Given the description of an element on the screen output the (x, y) to click on. 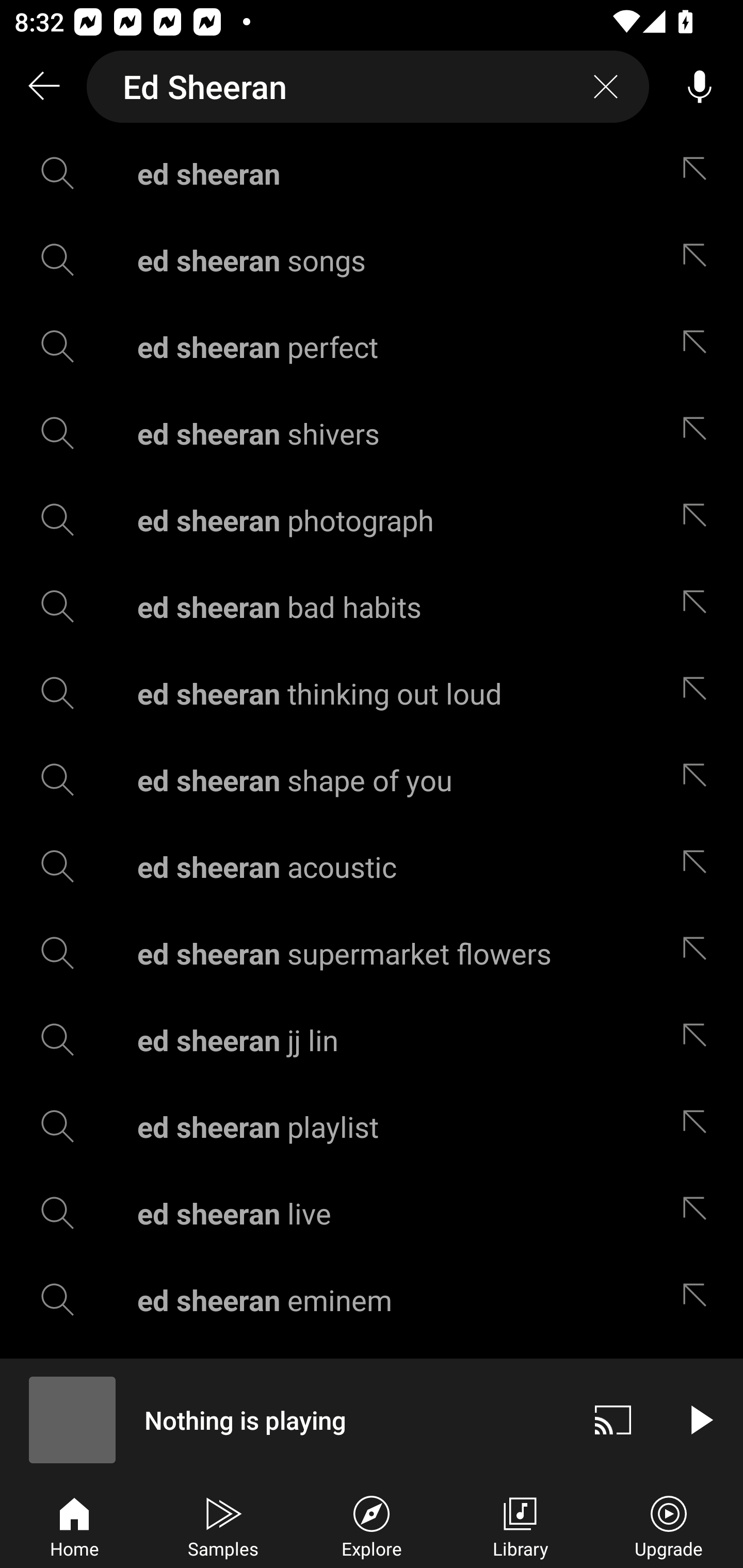
Search back (43, 86)
Ed Sheeran (367, 86)
Clear search (605, 86)
Voice search (699, 86)
ed sheeran Edit suggestion ed sheeran (371, 173)
Edit suggestion ed sheeran (699, 173)
ed sheeran songs Edit suggestion ed sheeran songs (371, 259)
Edit suggestion ed sheeran songs (699, 259)
Edit suggestion ed sheeran perfect (699, 346)
Edit suggestion ed sheeran shivers (699, 433)
Edit suggestion ed sheeran photograph (699, 519)
Edit suggestion ed sheeran bad habits (699, 605)
Edit suggestion ed sheeran thinking out loud (699, 692)
Edit suggestion ed sheeran shape of you (699, 779)
Edit suggestion ed sheeran acoustic (699, 866)
Edit suggestion ed sheeran supermarket flowers (699, 953)
Edit suggestion ed sheeran jj lin (699, 1040)
Edit suggestion ed sheeran playlist (699, 1126)
ed sheeran live Edit suggestion ed sheeran live (371, 1212)
Edit suggestion ed sheeran live (699, 1212)
Edit suggestion ed sheeran eminem (699, 1299)
Nothing is playing (284, 1419)
Cast. Disconnected (612, 1419)
Play video (699, 1419)
Home (74, 1524)
Samples (222, 1524)
Explore (371, 1524)
Library (519, 1524)
Upgrade (668, 1524)
